Given the description of an element on the screen output the (x, y) to click on. 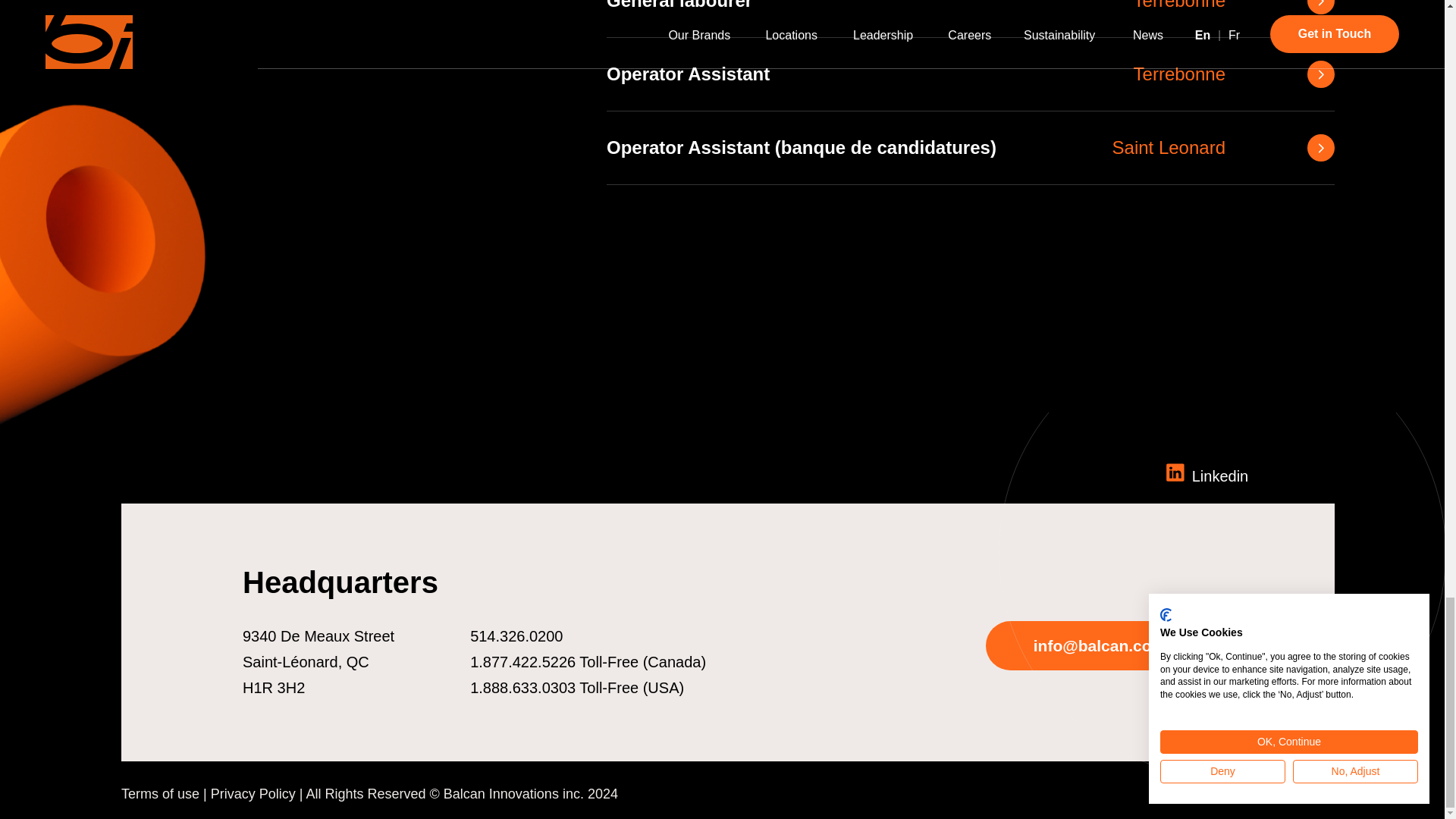
Privacy Policy (253, 793)
Terms of use (971, 73)
By Leeroy (159, 793)
Linkedin (1303, 793)
